Given the description of an element on the screen output the (x, y) to click on. 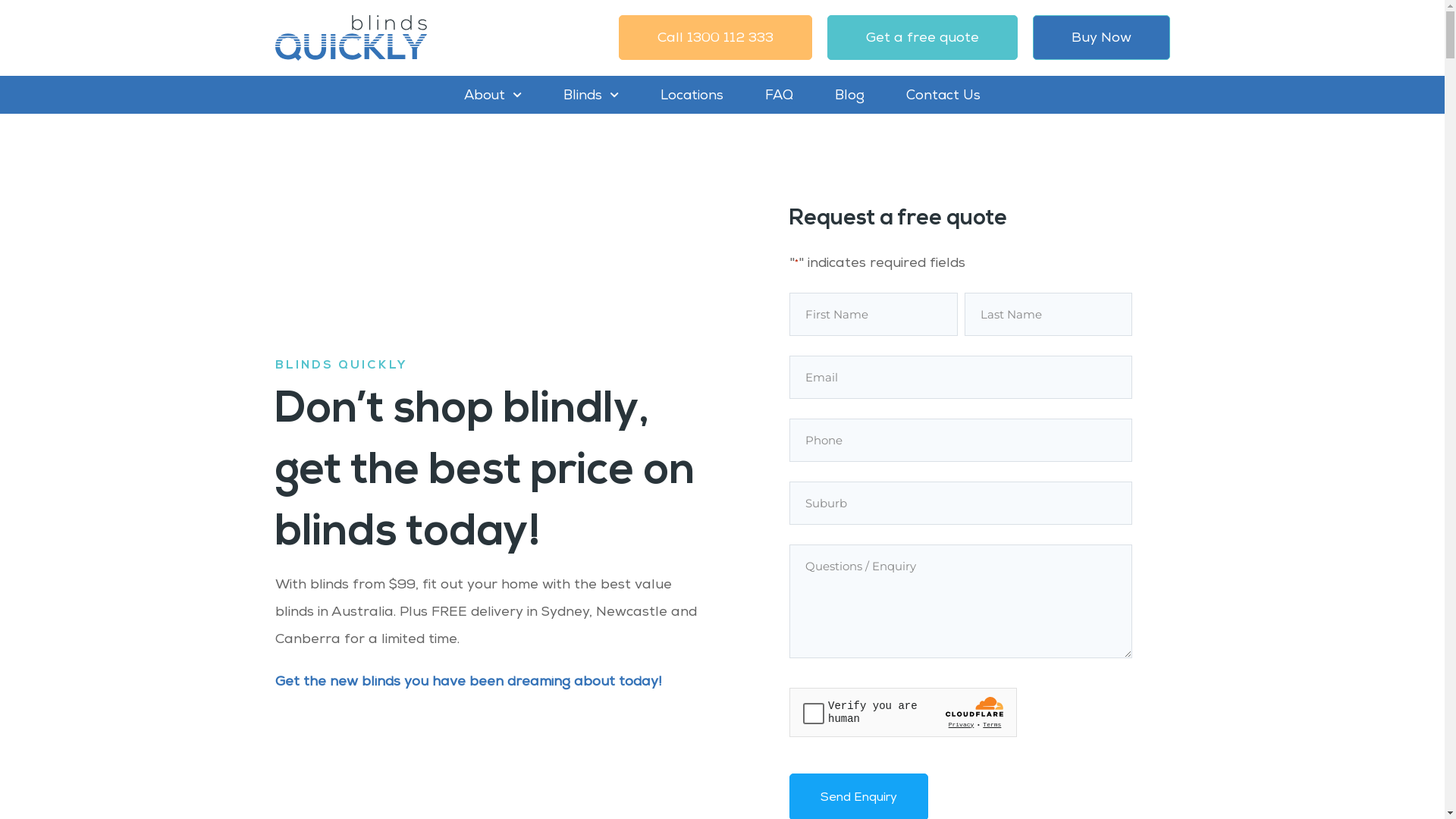
Locations Element type: text (691, 94)
Contact Us Element type: text (943, 94)
Blog Element type: text (849, 94)
FAQ Element type: text (779, 94)
Call 1300 112 333 Element type: text (715, 37)
Get a free quote Element type: text (921, 37)
Blinds Element type: text (590, 94)
Widget containing a Cloudflare security challenge Element type: hover (902, 711)
Buy Now Element type: text (1101, 37)
About Element type: text (492, 94)
